Given the description of an element on the screen output the (x, y) to click on. 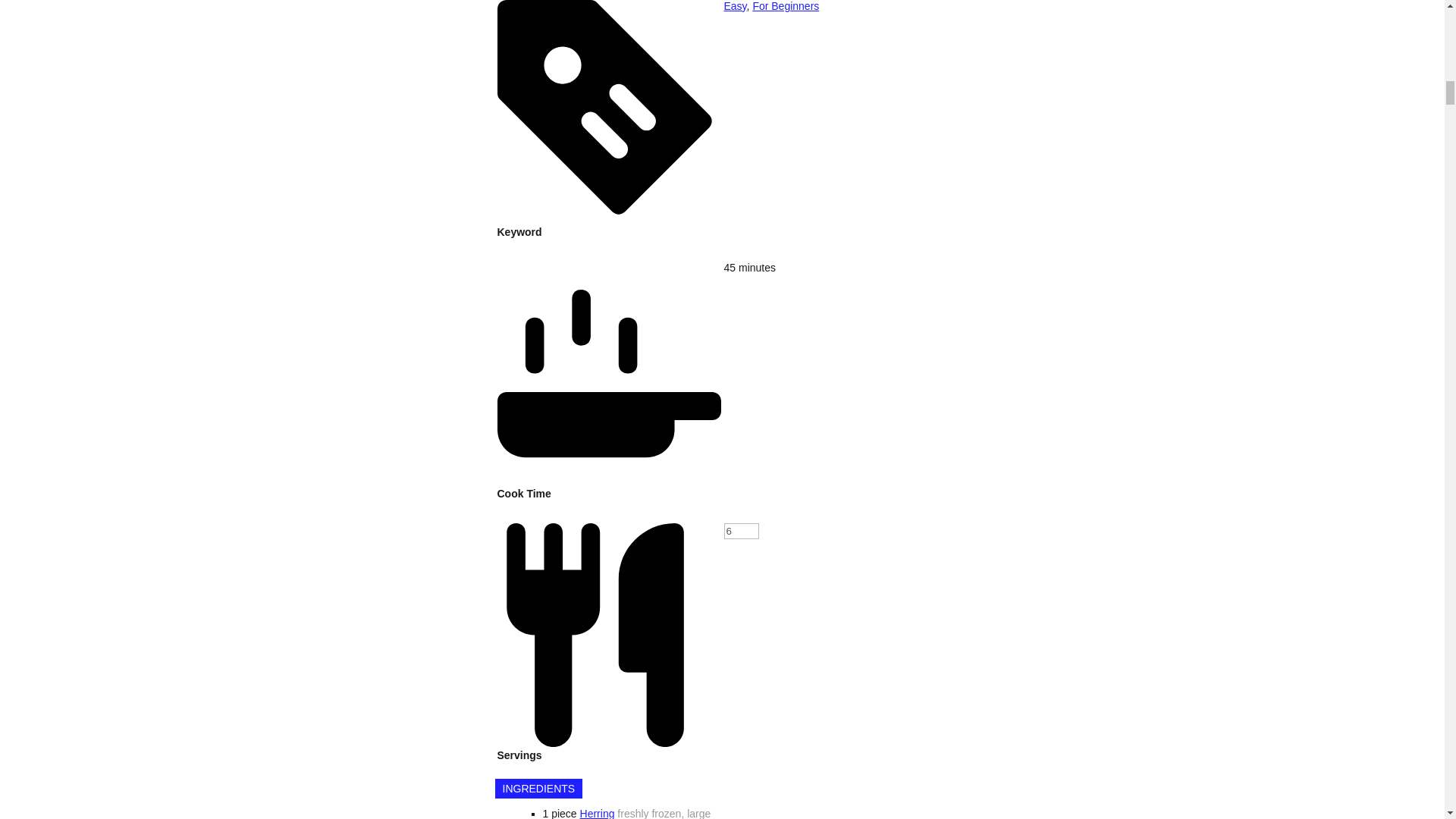
6 (740, 530)
